Given the description of an element on the screen output the (x, y) to click on. 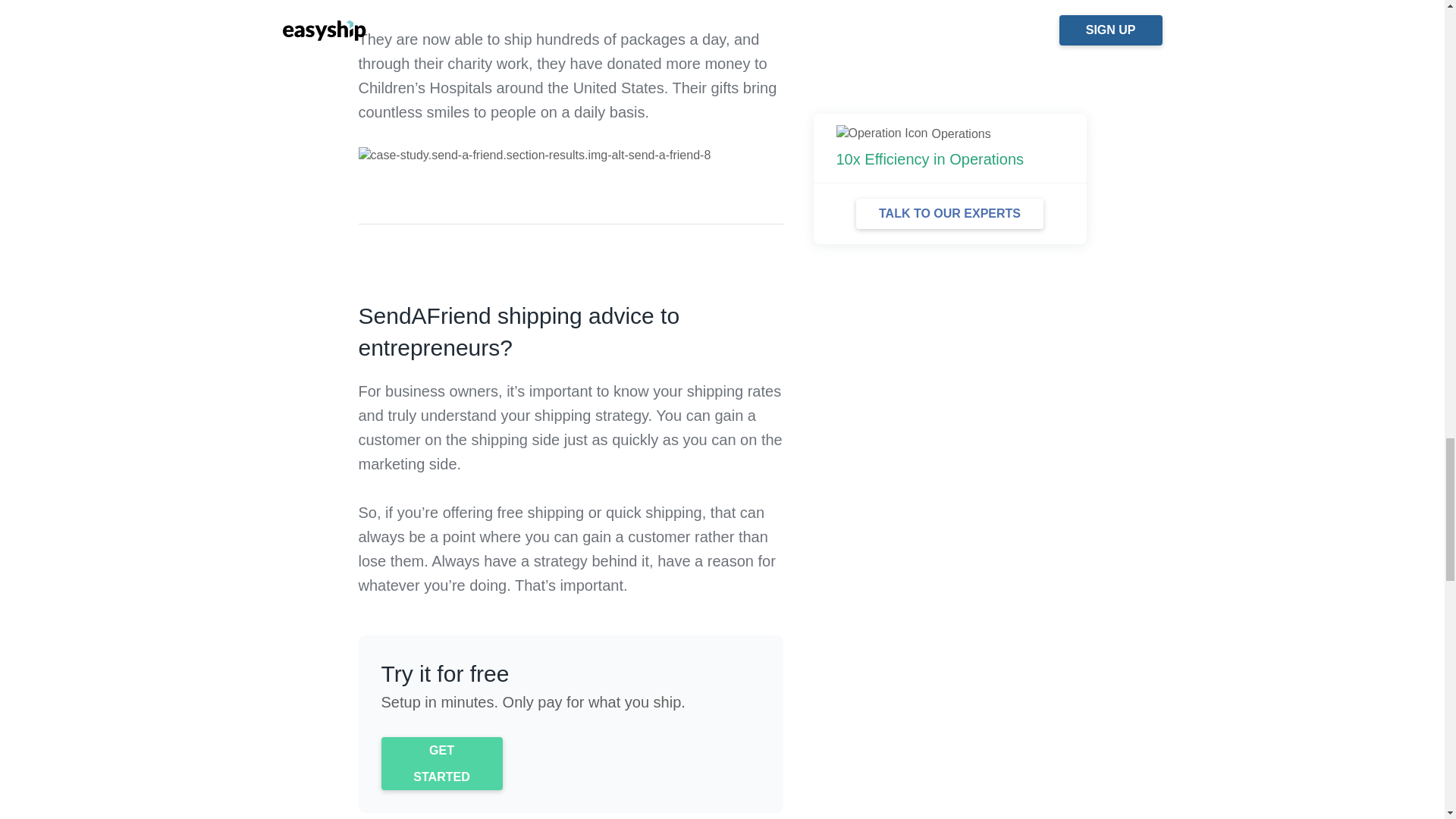
GET STARTED (441, 763)
